Given the description of an element on the screen output the (x, y) to click on. 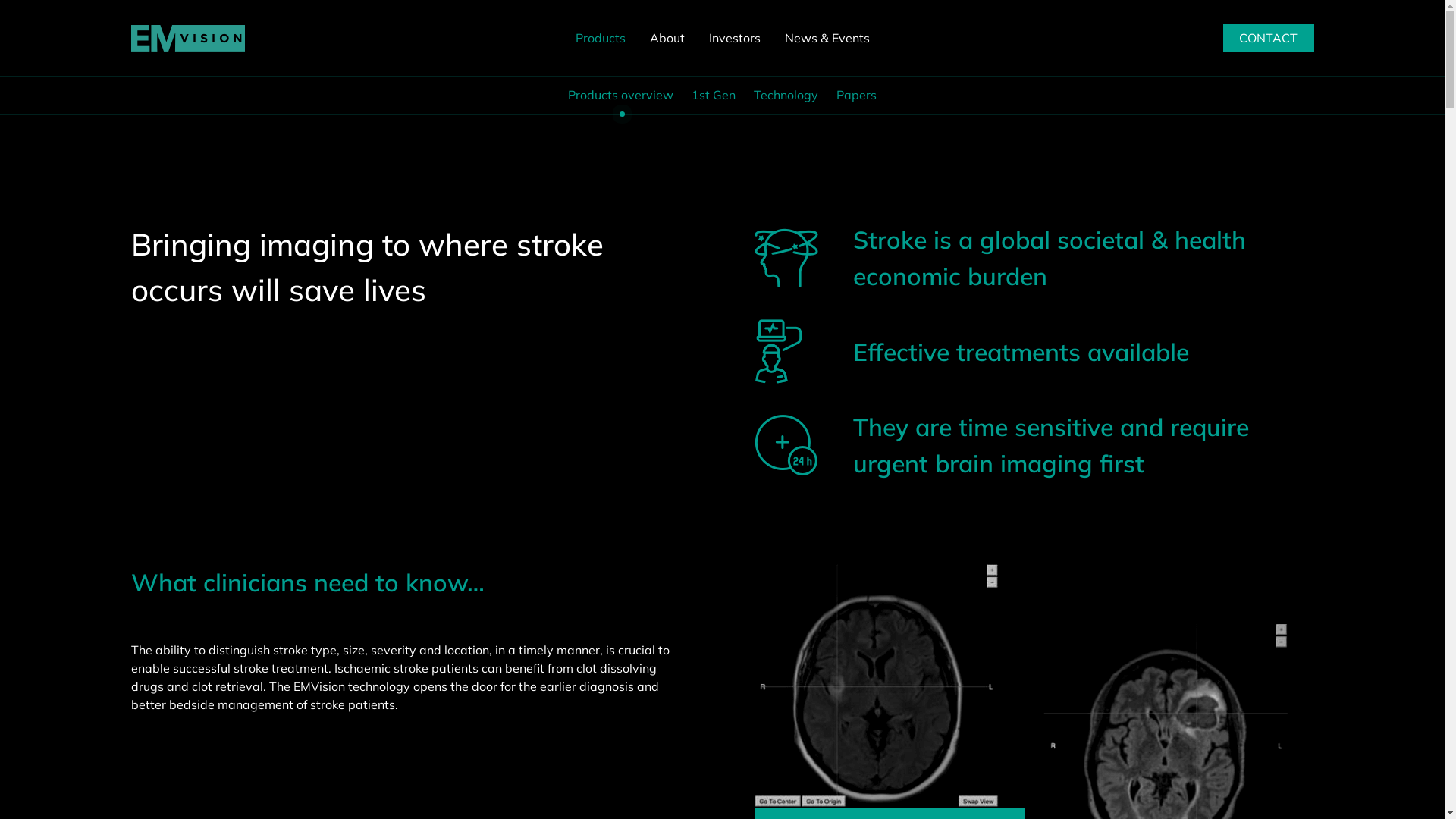
CONTACT Element type: text (1267, 37)
Technology Element type: text (785, 94)
1st Gen Element type: text (713, 94)
Products Element type: text (599, 37)
About Element type: text (666, 37)
News & Events Element type: text (826, 37)
Papers Element type: text (856, 94)
Investors Element type: text (733, 37)
Products overview Element type: text (620, 94)
